Given the description of an element on the screen output the (x, y) to click on. 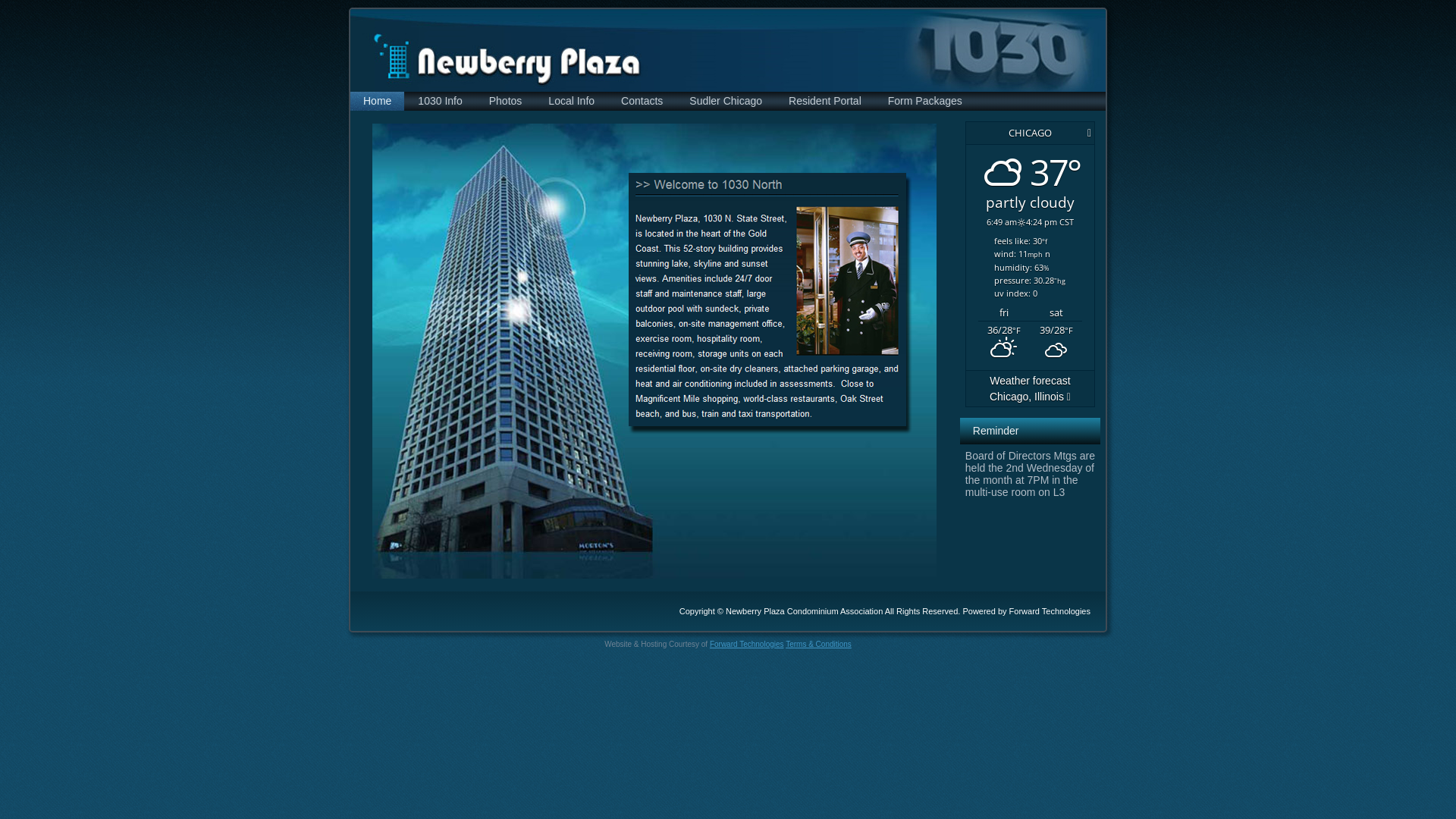
Forward Technologies Element type: text (1049, 610)
Photos Element type: text (505, 100)
Form Packages Element type: text (925, 100)
1030 Info Element type: text (439, 100)
Welcome to Newberry Plaza Element type: hover (654, 350)
Home Element type: text (377, 100)
Sudler Chicago Element type: text (725, 100)
Forward Technologies Element type: text (746, 644)
Resident Portal Element type: text (824, 100)
Contacts Element type: text (641, 100)
Terms & Conditions Element type: text (818, 644)
Local Info Element type: text (571, 100)
